Given the description of an element on the screen output the (x, y) to click on. 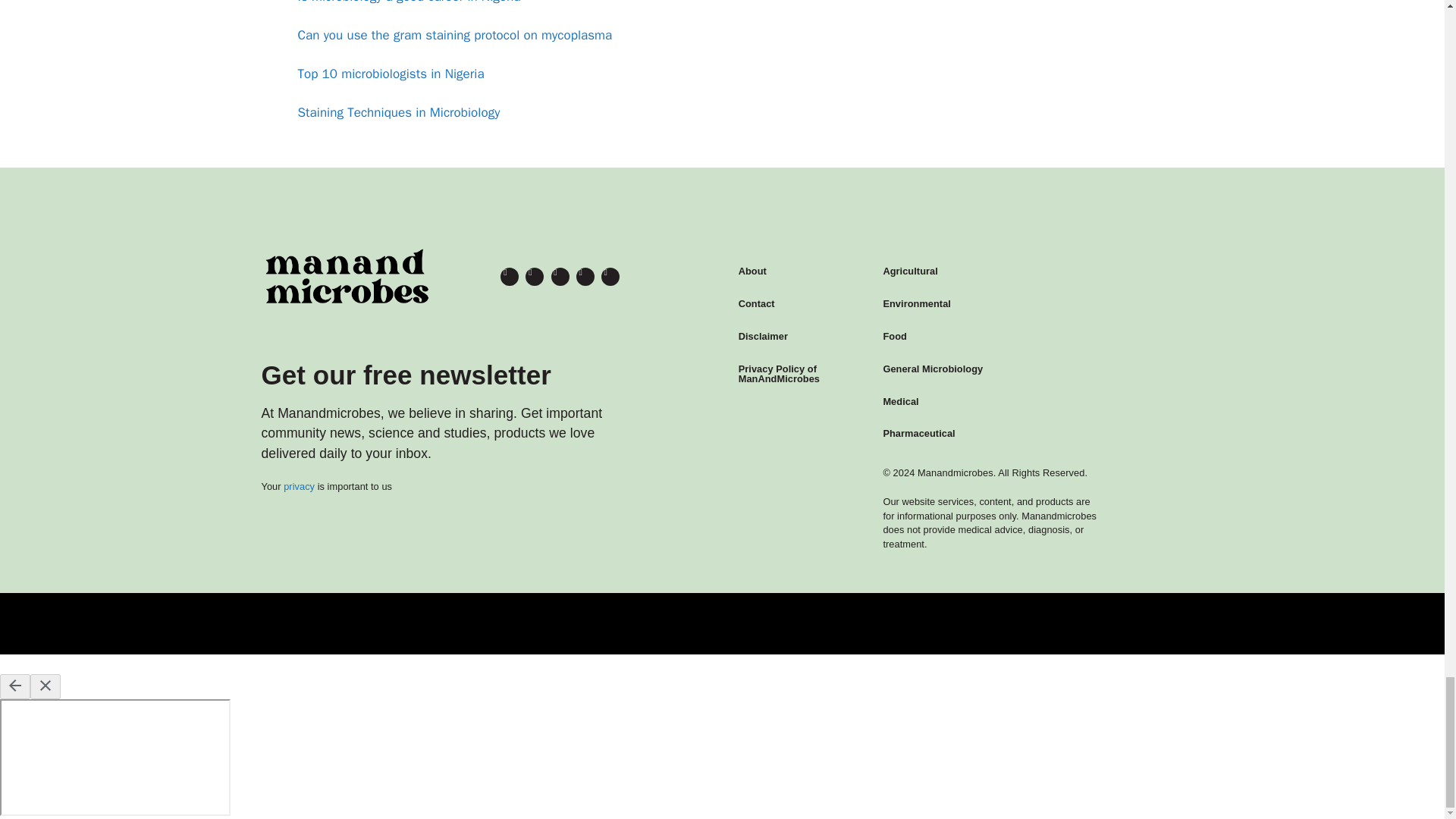
Staining Techniques in Microbiology (398, 112)
Top 10 microbiologists in Nigeria (390, 73)
Can you use the gram staining protocol on mycoplasma (454, 35)
Is microbiology a good career in Nigeria (408, 2)
